Given the description of an element on the screen output the (x, y) to click on. 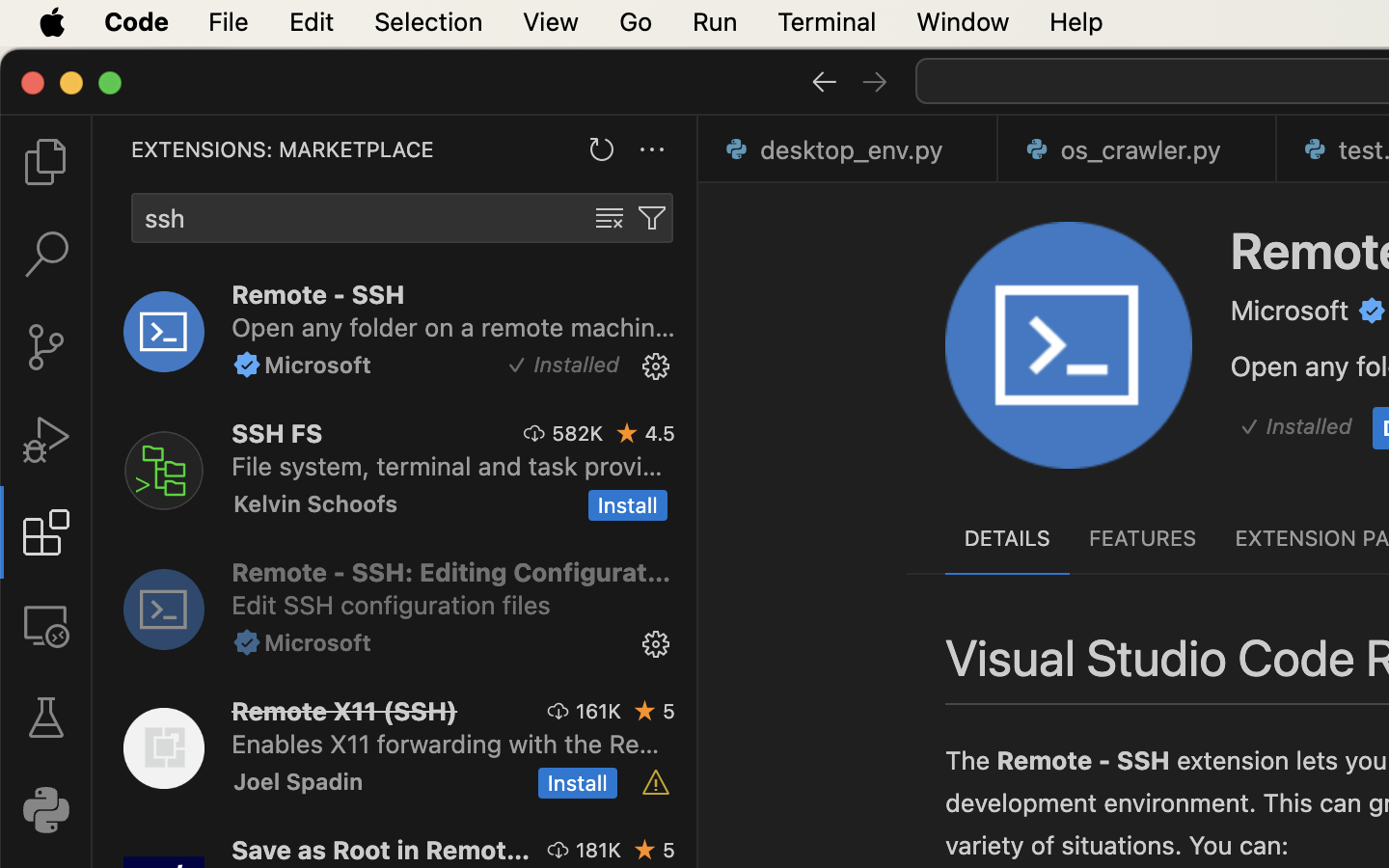
 Element type: AXStaticText (651, 217)
File system, terminal and task provider using SSH Element type: AXStaticText (447, 465)
✓ Element type: AXStaticText (516, 365)
The Element type: AXStaticText (971, 760)
0  Element type: AXRadioButton (46, 161)
